Given the description of an element on the screen output the (x, y) to click on. 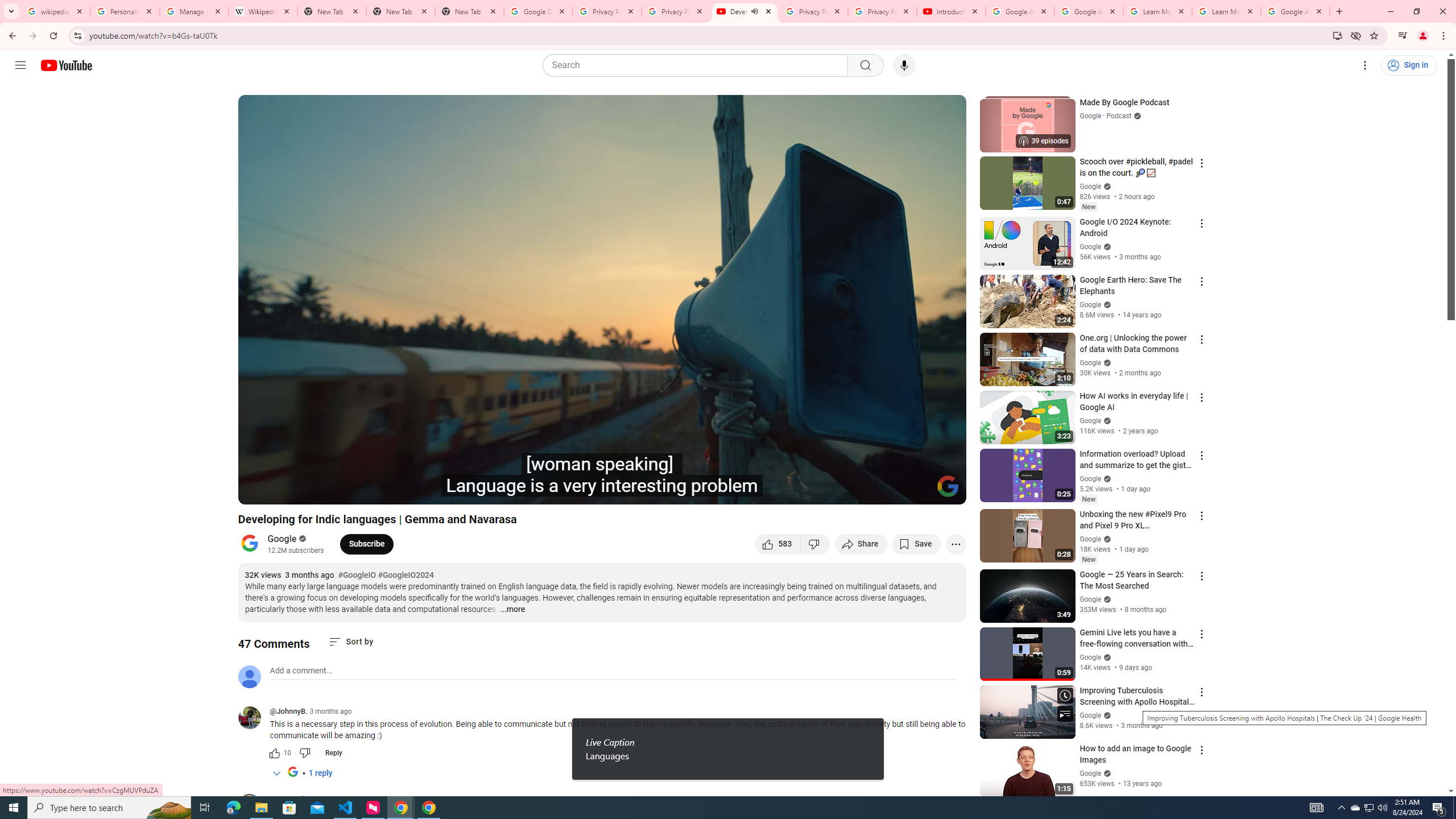
Dislike this comment (304, 752)
Dislike this video (815, 543)
Subtitles/closed captions unavailable (836, 490)
